Given the description of an element on the screen output the (x, y) to click on. 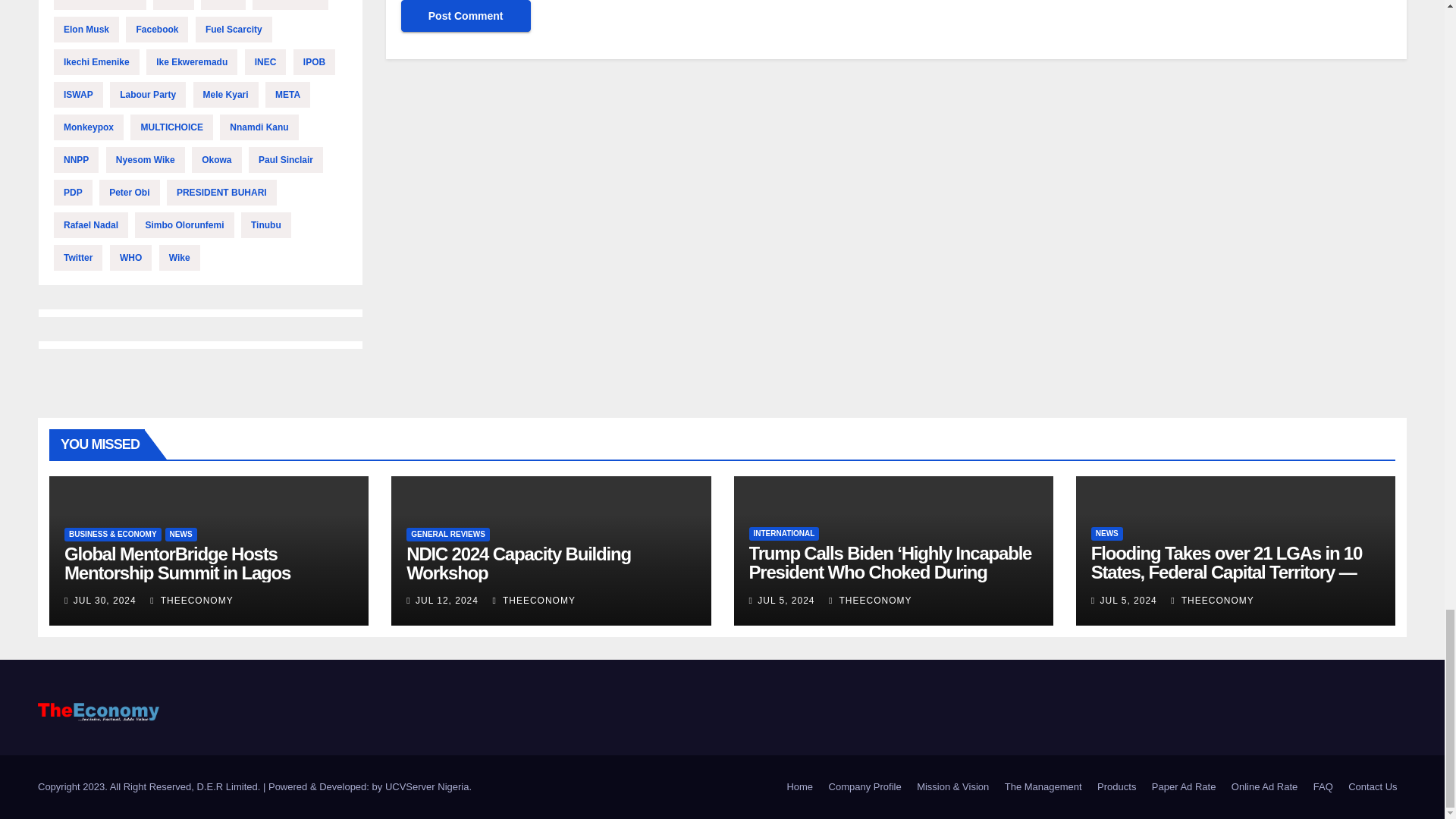
Post Comment (466, 15)
